Given the description of an element on the screen output the (x, y) to click on. 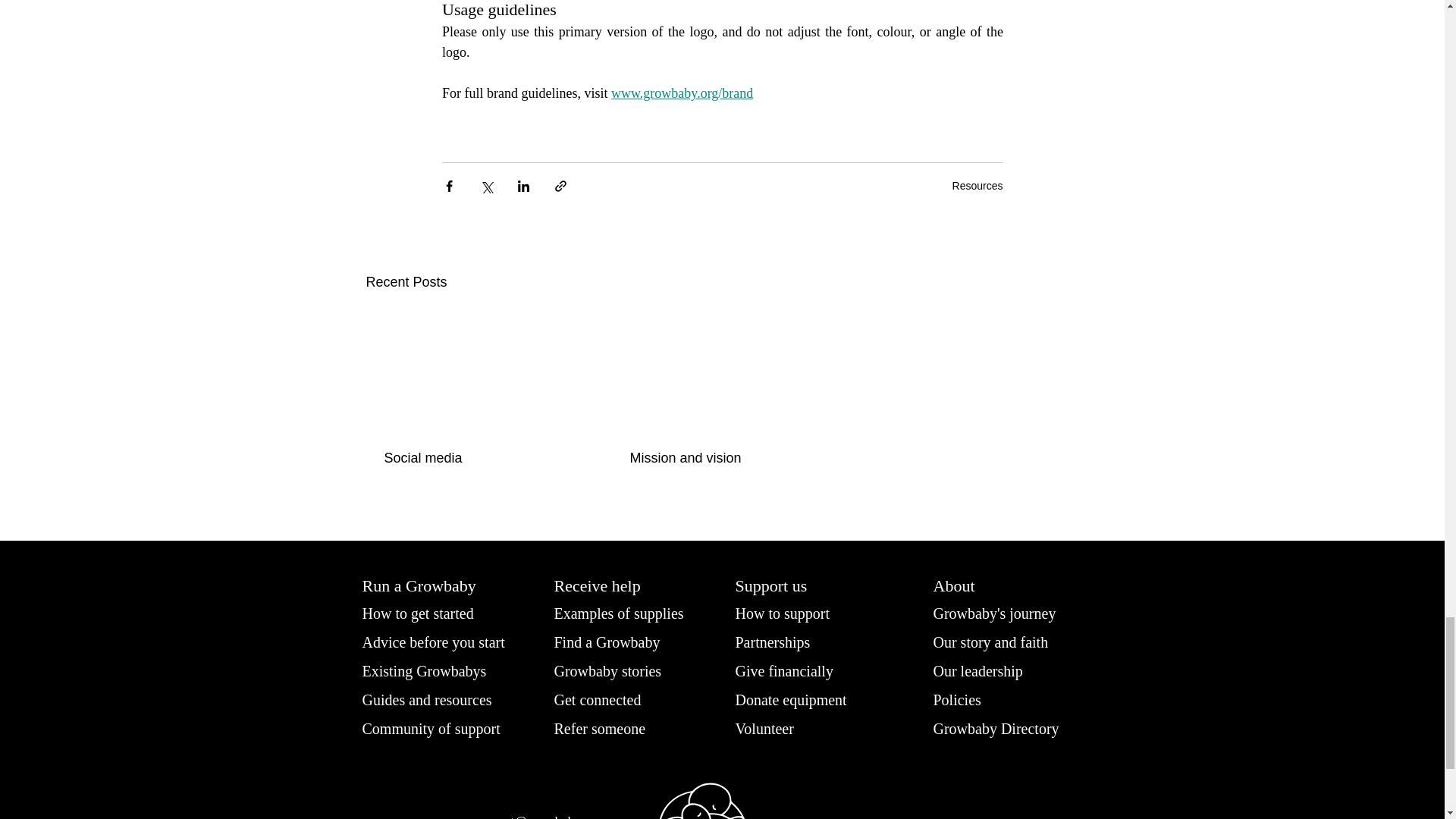
How to get started (429, 612)
Our story and faith (997, 641)
Advice before you start (442, 641)
Social media (475, 458)
Policies (959, 699)
Growbaby Directory (1002, 728)
Partnerships (779, 641)
Resources (977, 185)
Give financially (787, 670)
Refer someone (604, 728)
Volunteer (768, 728)
Get connected (602, 699)
Growbaby stories (614, 670)
Run a Growbaby (427, 585)
Donate equipment (799, 699)
